Given the description of an element on the screen output the (x, y) to click on. 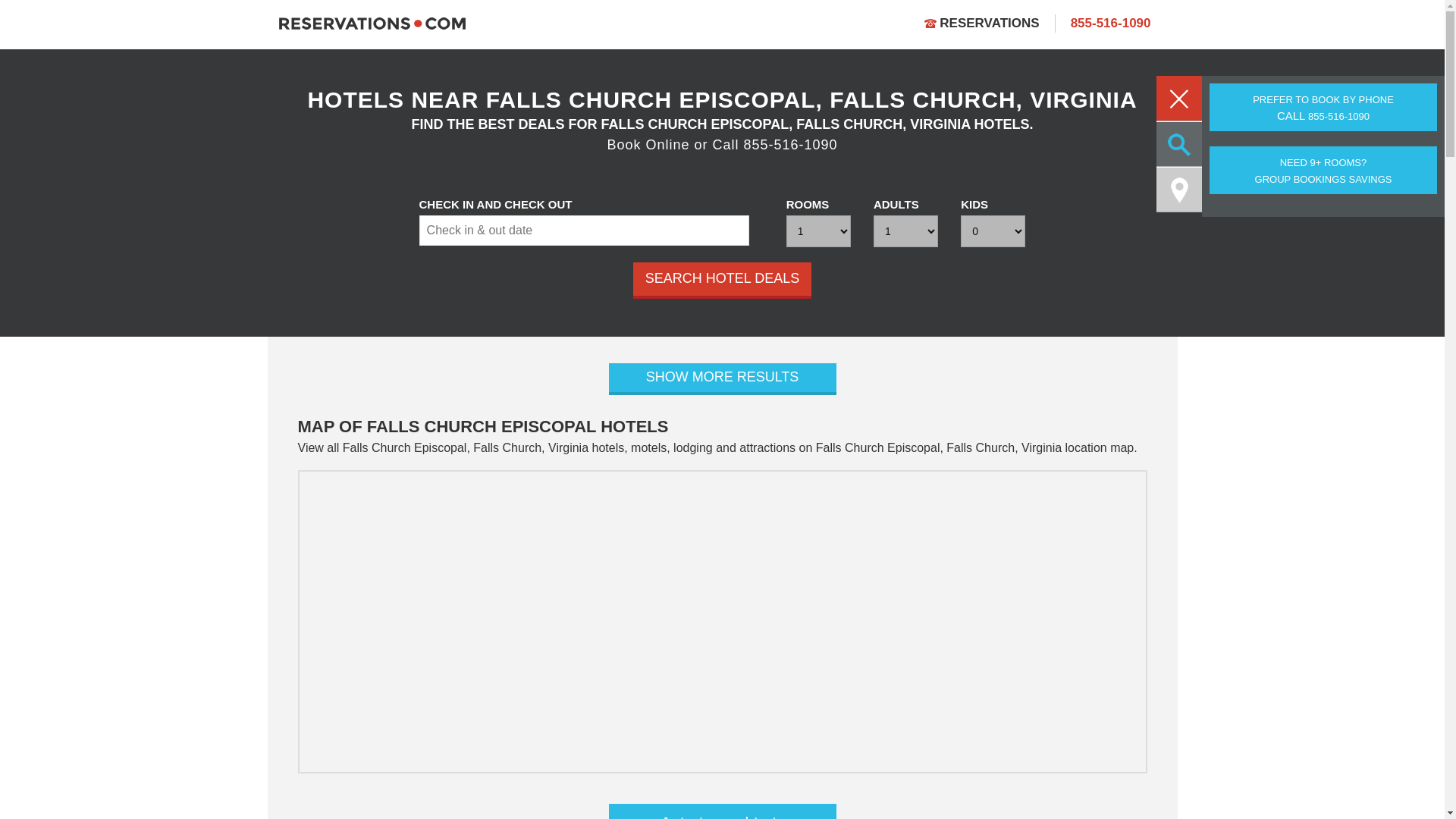
SHOW MORE RESULTS (721, 378)
SEARCH HOTEL DEALS (721, 811)
855-516-1090 (721, 280)
855-516-1090 (1110, 22)
